Given the description of an element on the screen output the (x, y) to click on. 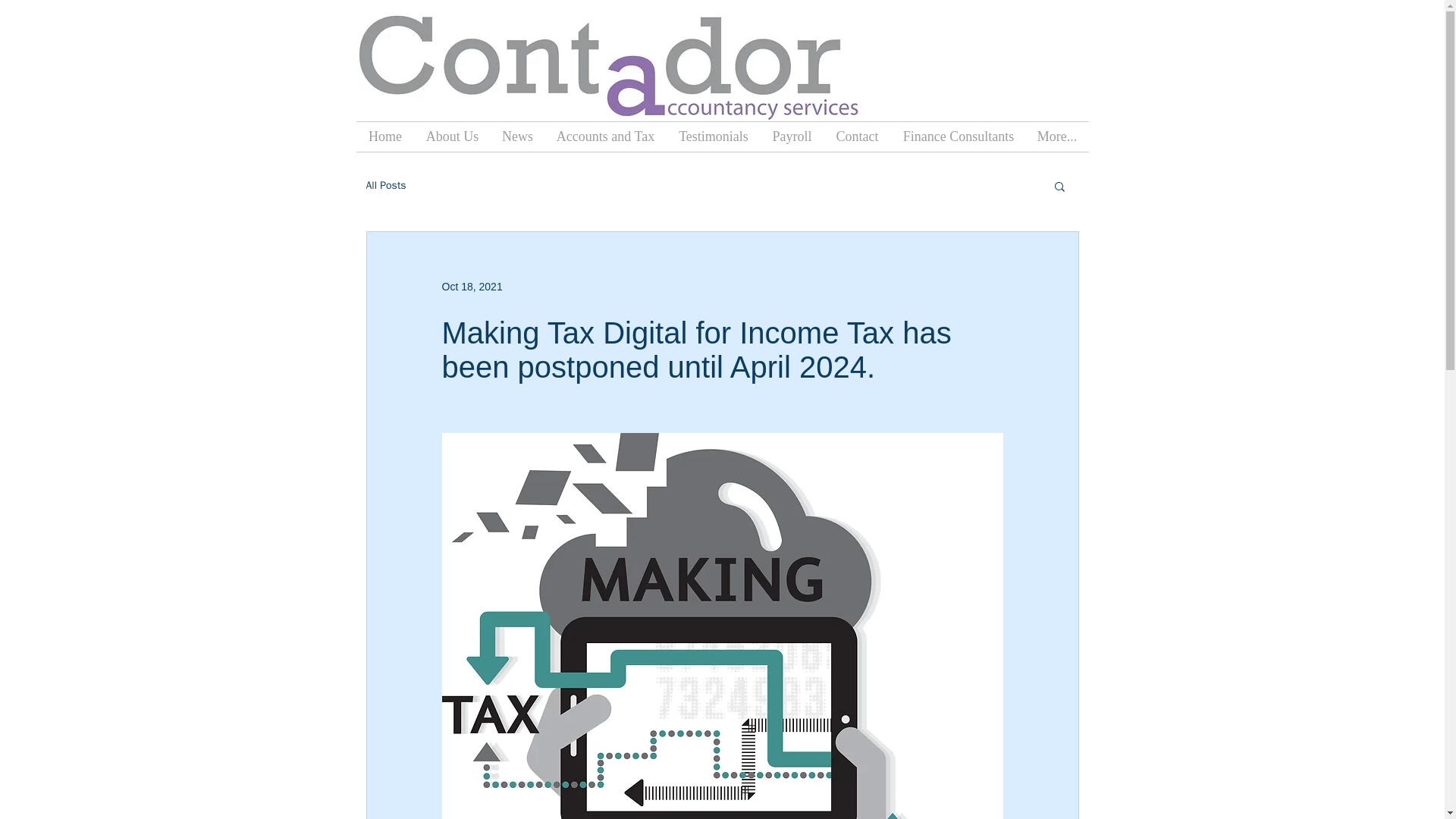
Oct 18, 2021 (471, 286)
All Posts (385, 185)
Testimonials (712, 136)
Accounts and Tax (604, 136)
Contact (857, 136)
News (516, 136)
Finance Consultants (958, 136)
Payroll (792, 136)
Home (385, 136)
About Us (451, 136)
